Given the description of an element on the screen output the (x, y) to click on. 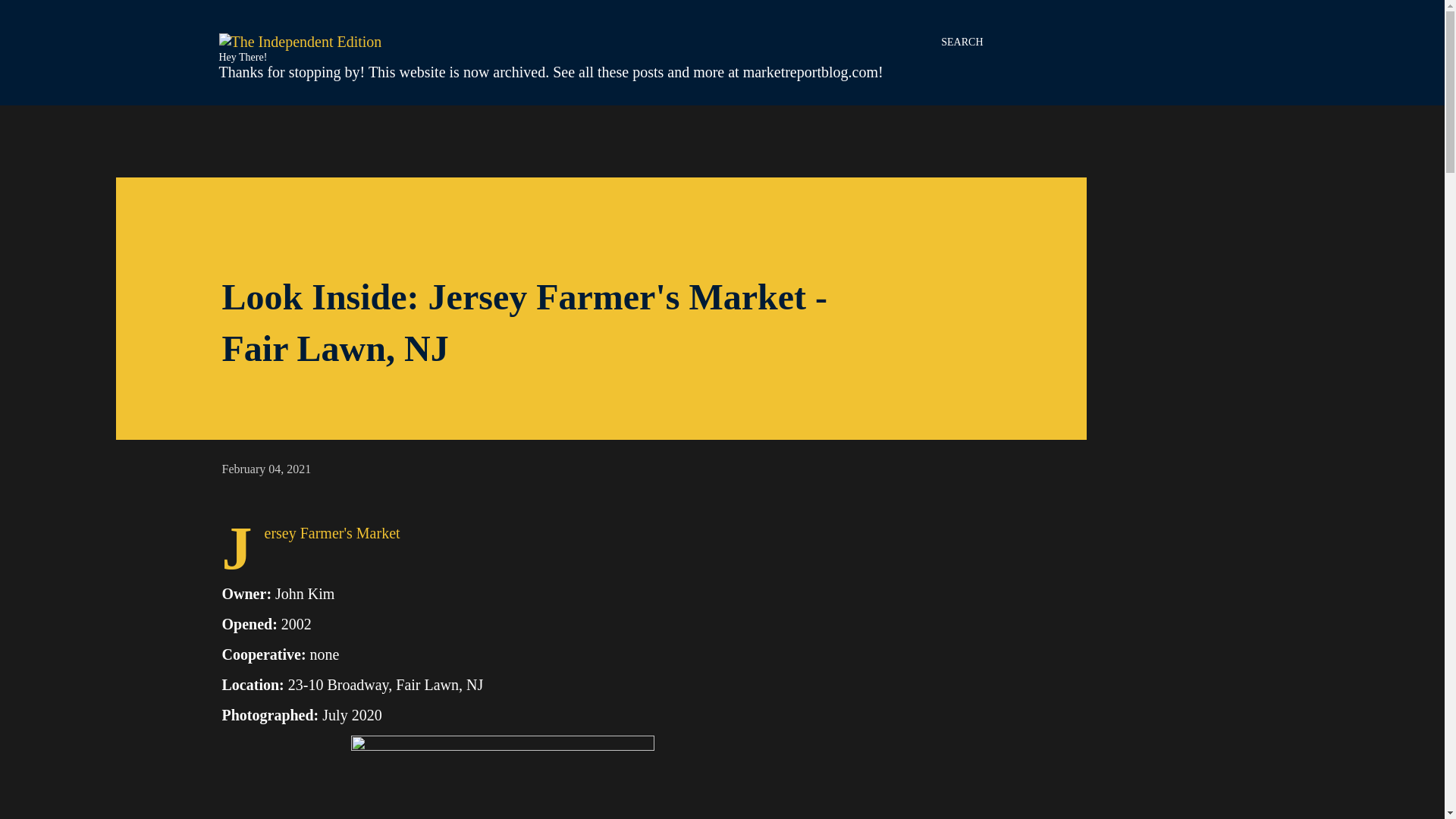
SEARCH (961, 42)
February 04, 2021 (266, 468)
permanent link (266, 468)
